Given the description of an element on the screen output the (x, y) to click on. 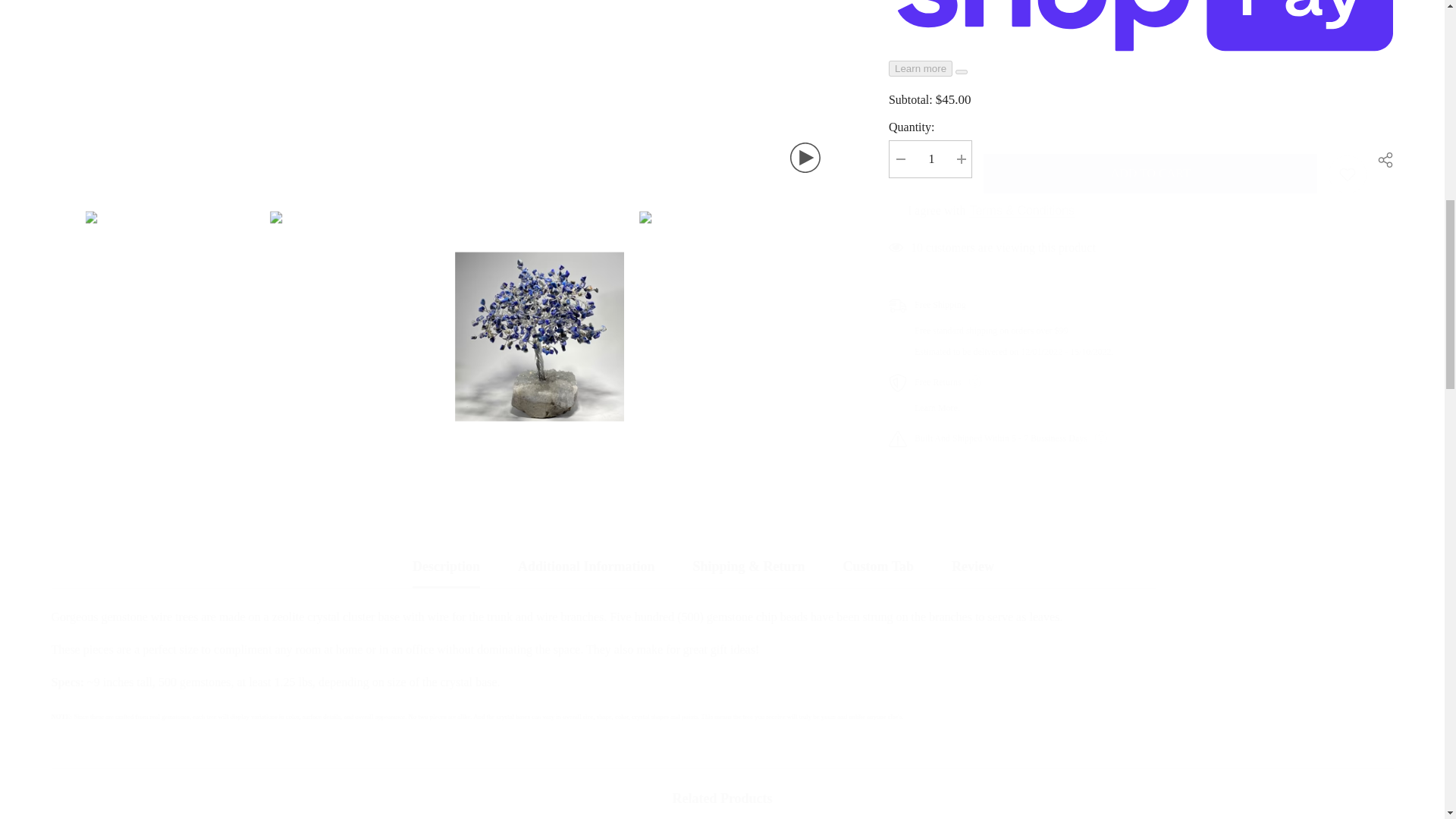
10 customers are viewing this product (1140, 12)
Built And Shipped Within 5 - 7 Bussiness Days (1140, 191)
